Given the description of an element on the screen output the (x, y) to click on. 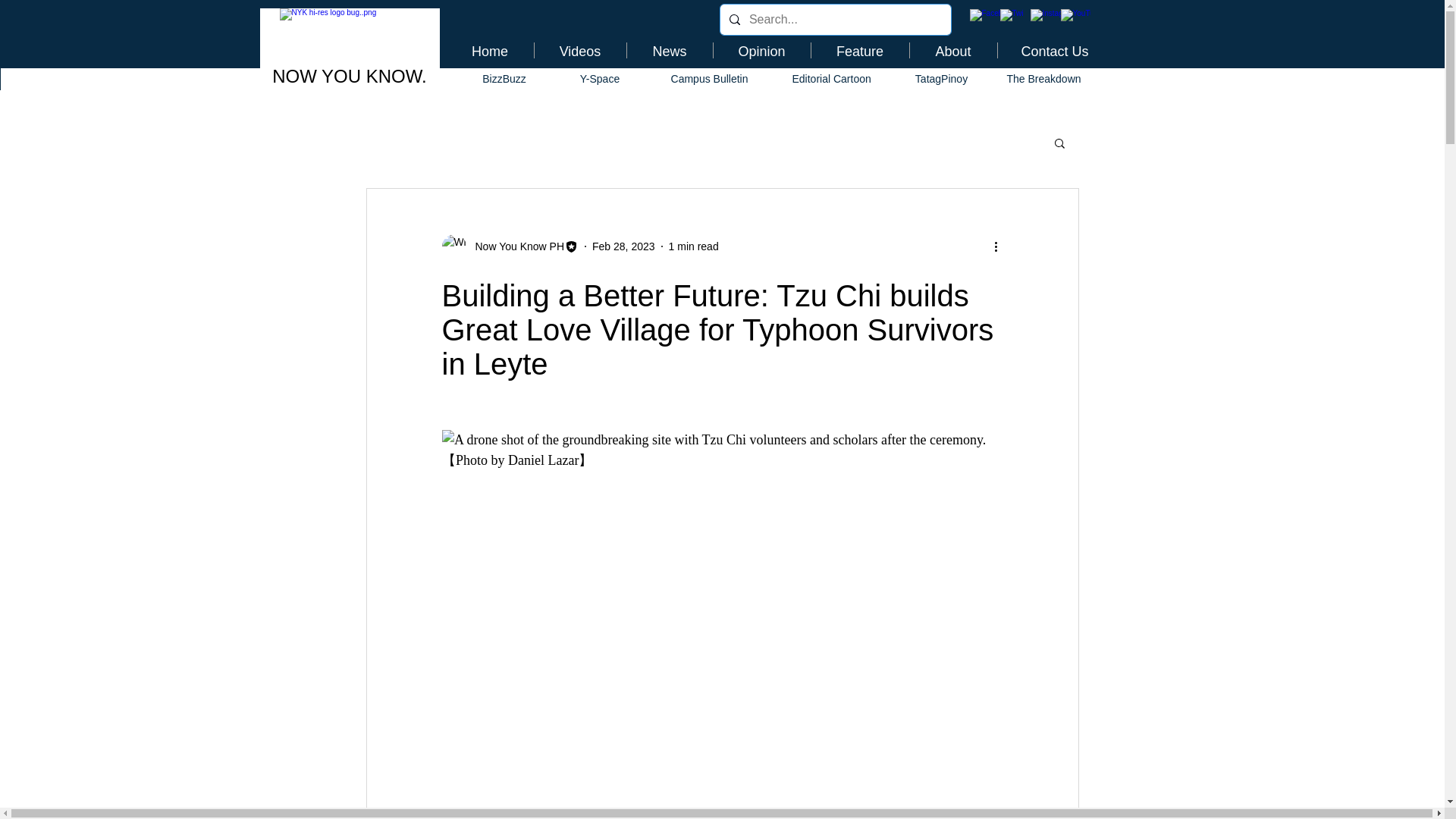
Now You Know PH (514, 245)
Contact Us (1054, 50)
News (668, 50)
Opinion (761, 50)
Y-Space (599, 79)
Feature (859, 50)
TatagPinoy (941, 79)
About (953, 50)
Videos (580, 50)
Editorial Cartoon (831, 79)
